Given the description of an element on the screen output the (x, y) to click on. 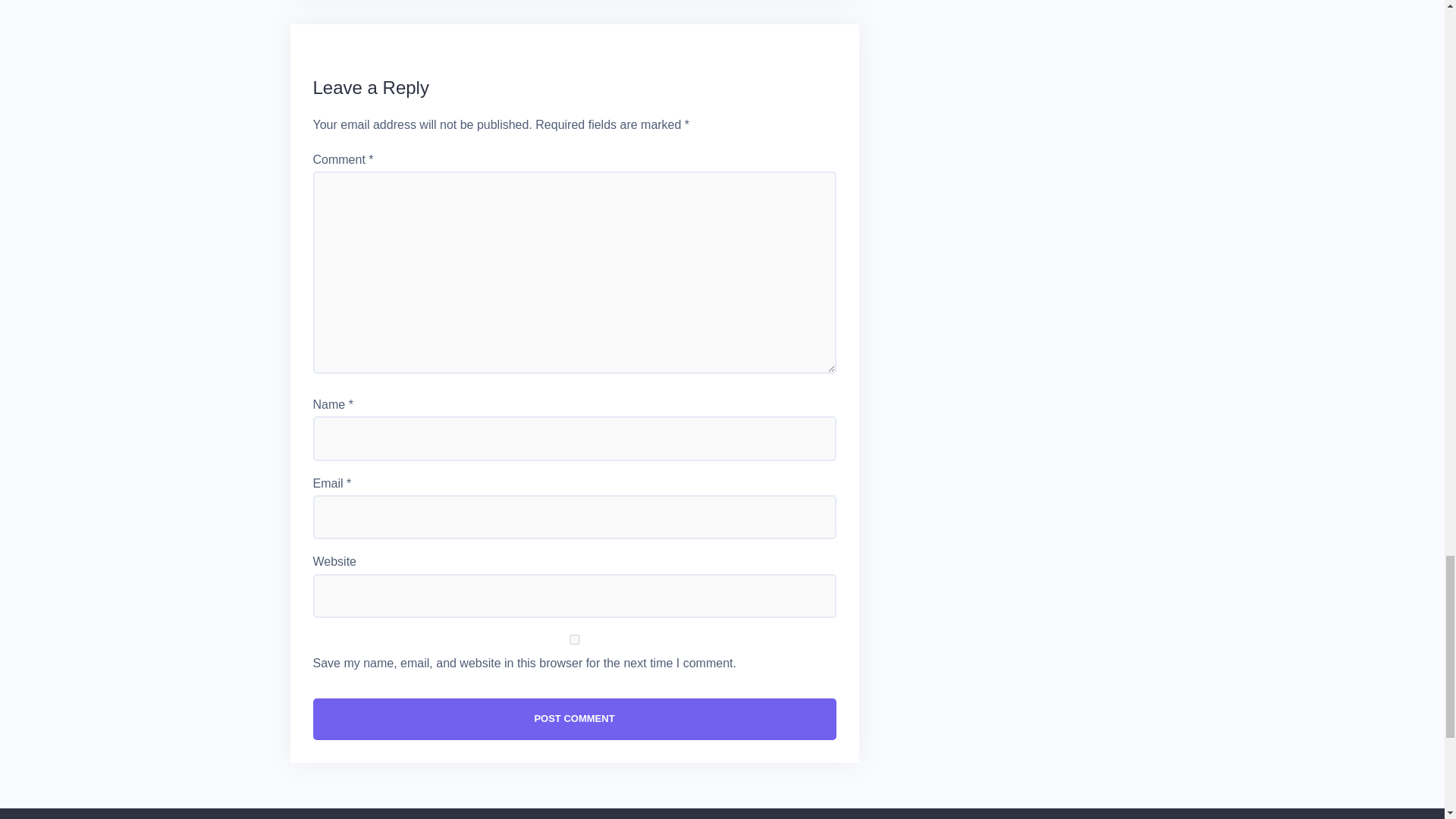
Post Comment (574, 719)
yes (574, 639)
Post Comment (574, 719)
